Given the description of an element on the screen output the (x, y) to click on. 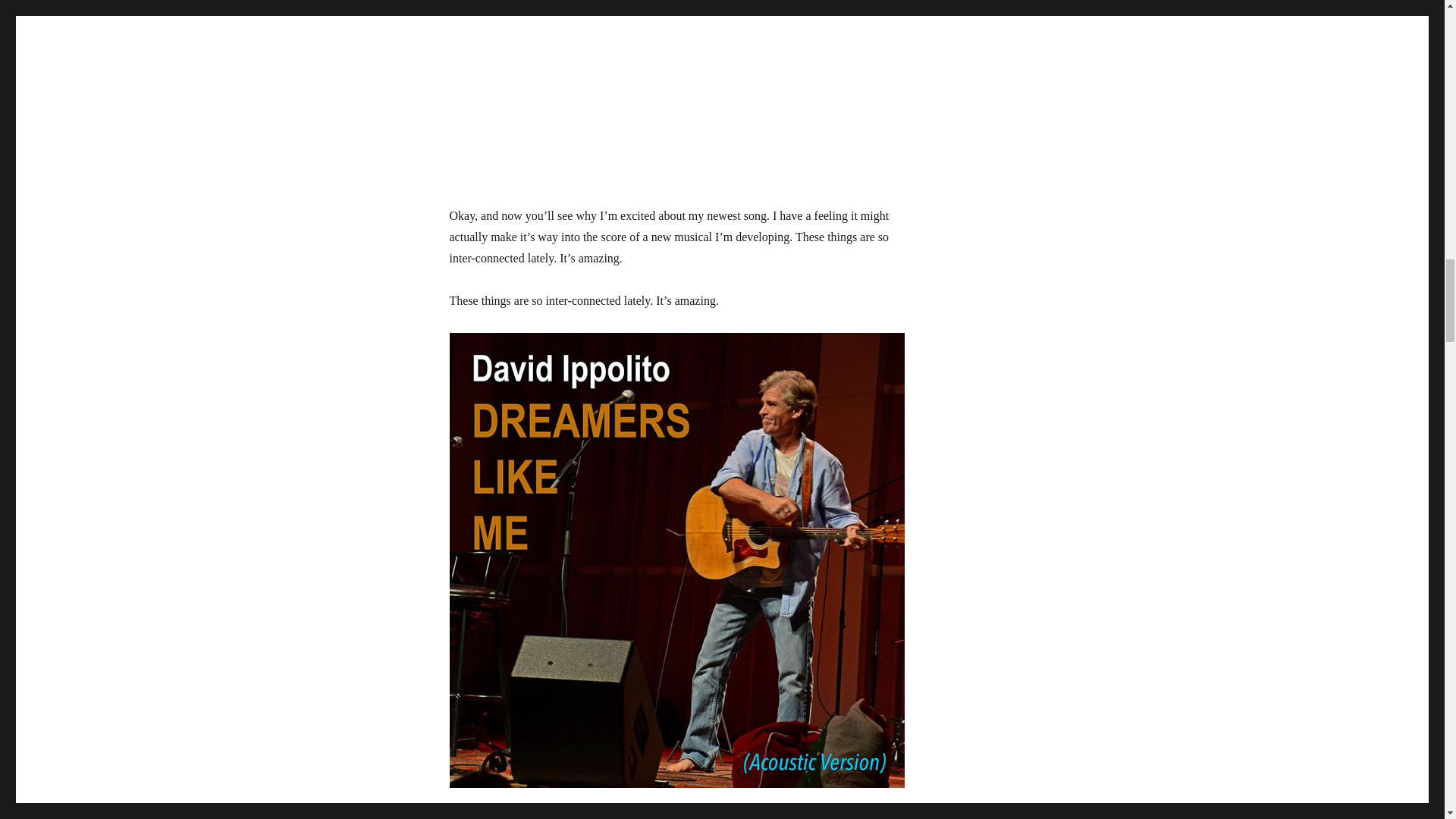
Mute (841, 817)
Play (468, 817)
